Given the description of an element on the screen output the (x, y) to click on. 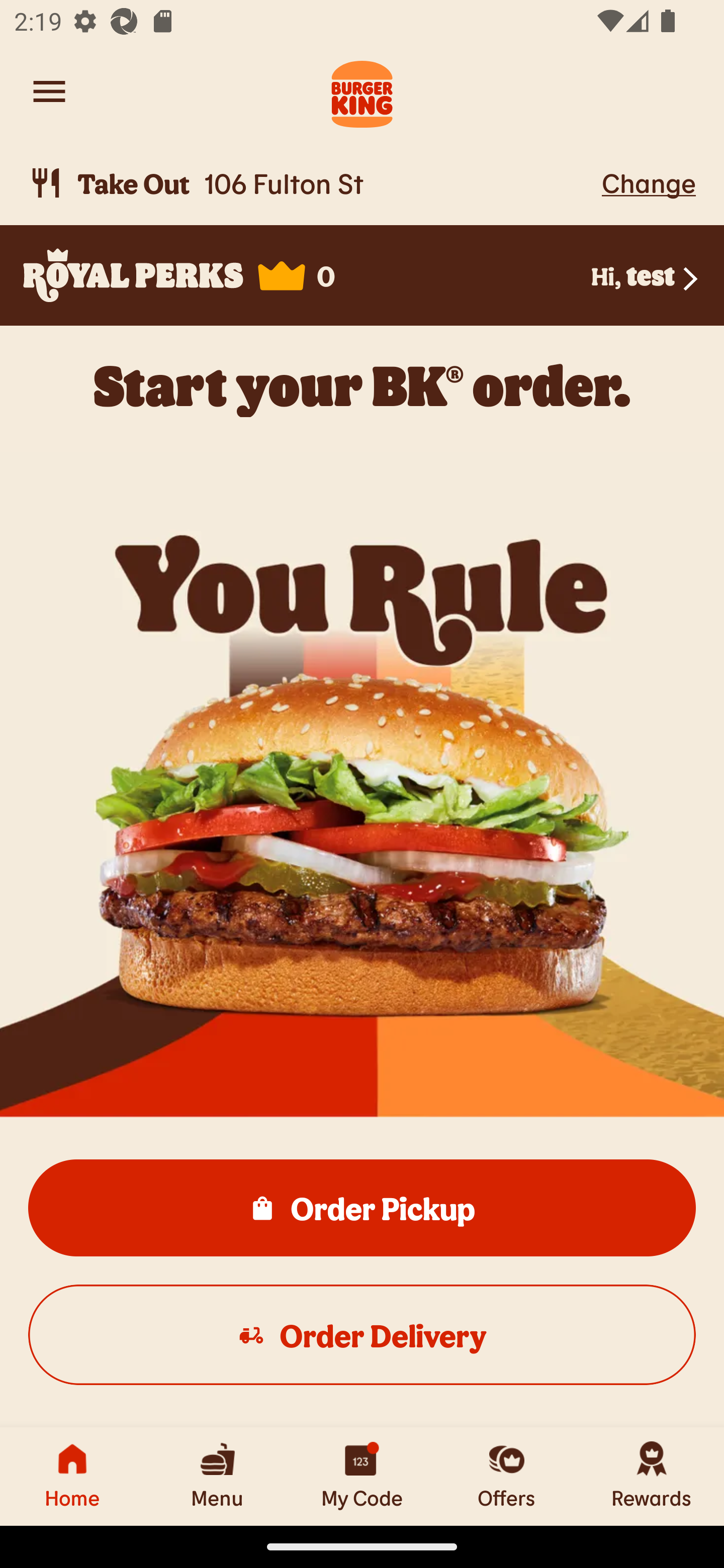
Burger King Logo. Navigate to Home (362, 91)
Navigate to account menu  (49, 91)
Take Out, 106 Fulton St  Take Out 106 Fulton St (311, 183)
Change (648, 182)
Start your BK® order. (361, 385)
, Order Pickup  Order Pickup (361, 1206)
, Order Delivery  Order Delivery (361, 1334)
Home (72, 1475)
Menu (216, 1475)
My Code (361, 1475)
Offers (506, 1475)
Rewards (651, 1475)
